Given the description of an element on the screen output the (x, y) to click on. 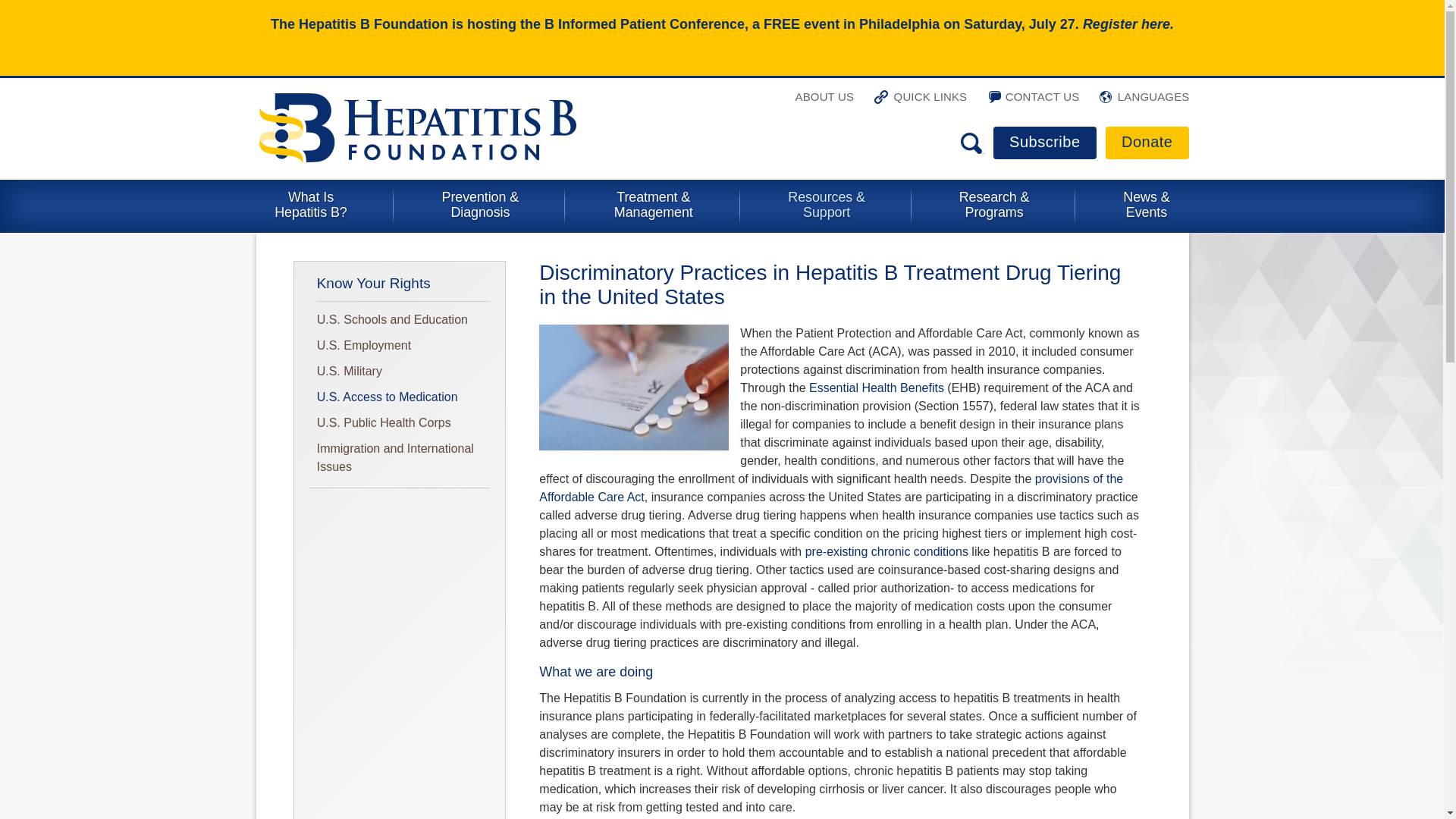
CONTACT US (1033, 103)
Subscribe (1044, 142)
B Informed Patient Conference (644, 23)
QUICK LINKS (921, 103)
Donate (1147, 142)
here (1155, 23)
LANGUAGES (1144, 103)
ABOUT US (821, 103)
